Given the description of an element on the screen output the (x, y) to click on. 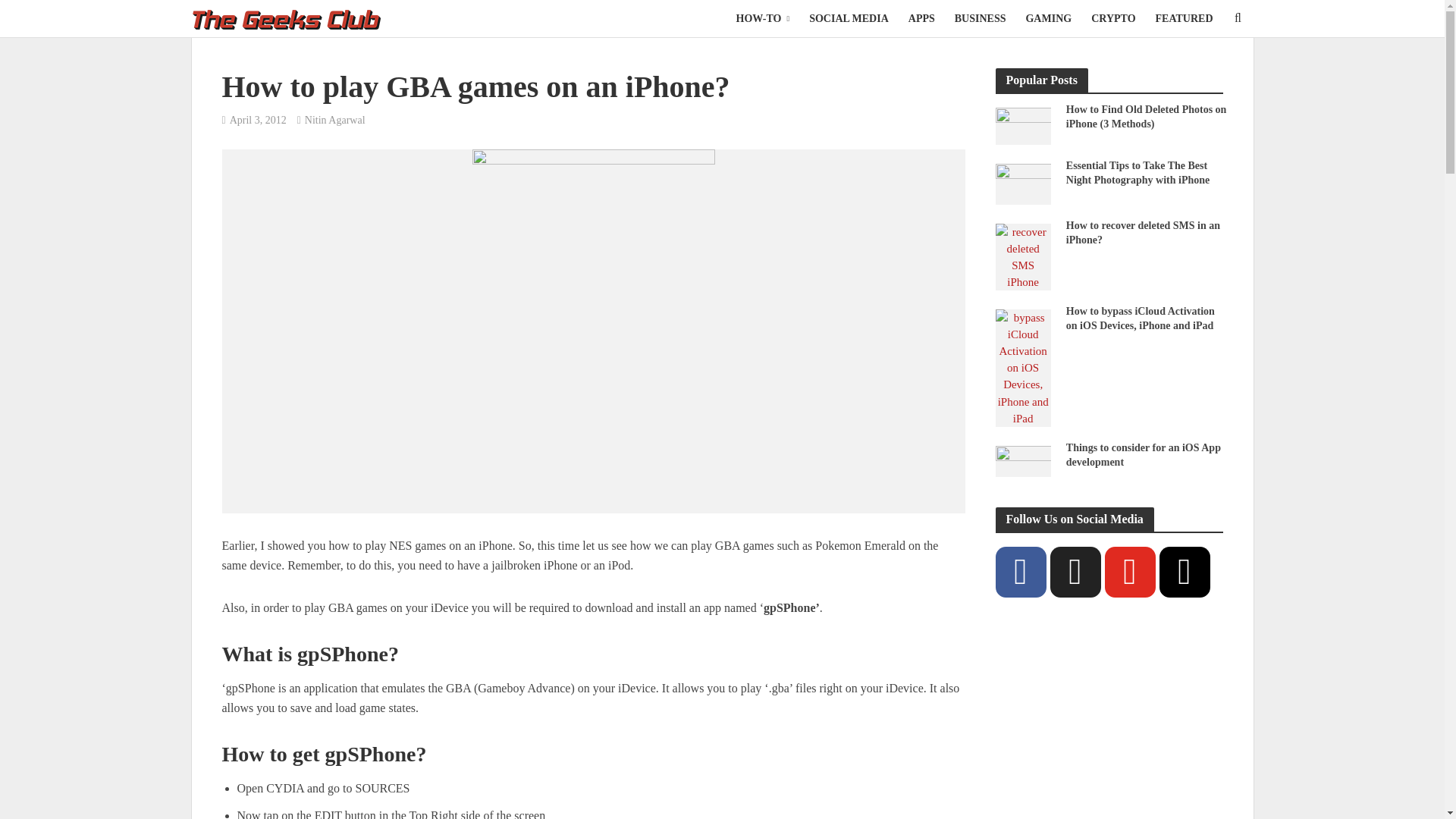
SOCIAL MEDIA (848, 18)
CRYPTO (1112, 18)
GAMING (1047, 18)
HOW-TO (762, 18)
Nitin Agarwal (334, 121)
YouTube (1128, 572)
Things to consider for an iOS App development (1021, 460)
How to recover deleted SMS in an iPhone? (1021, 256)
BUSINESS (980, 18)
APPS (921, 18)
Facebook (1019, 572)
FEATURED (1184, 18)
